Given the description of an element on the screen output the (x, y) to click on. 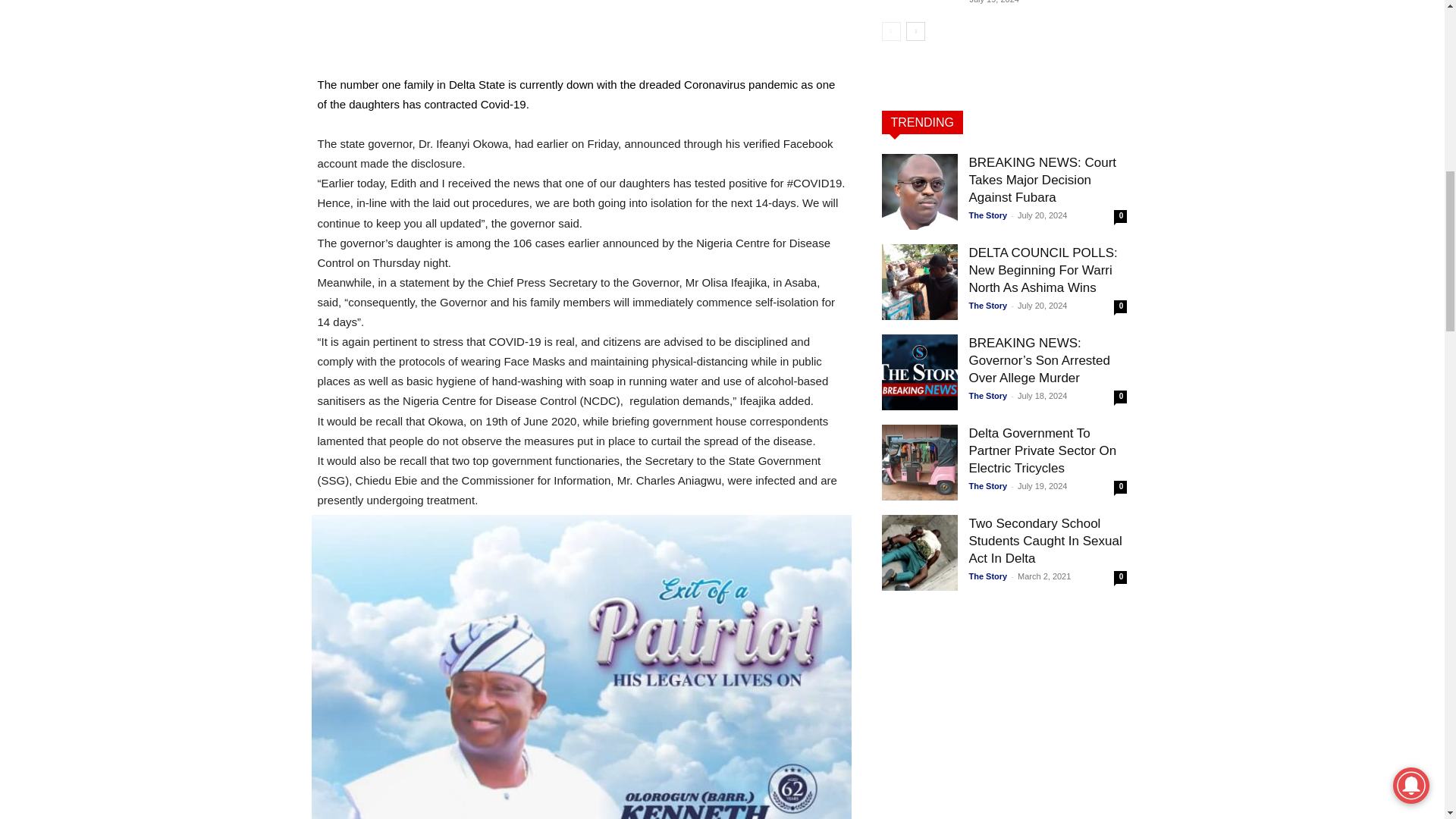
Advertisement (580, 34)
